Given the description of an element on the screen output the (x, y) to click on. 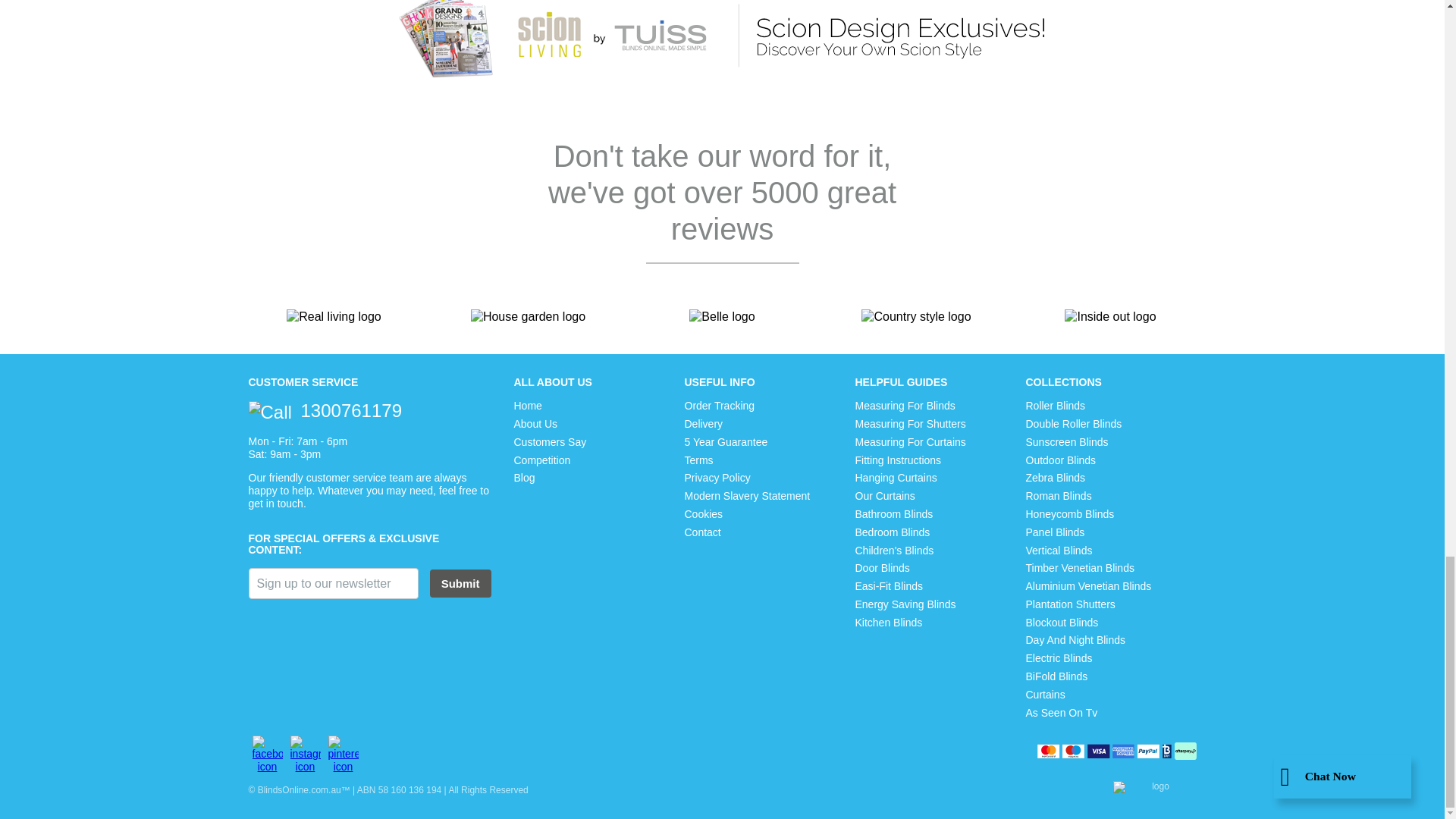
Submit (460, 583)
